Given the description of an element on the screen output the (x, y) to click on. 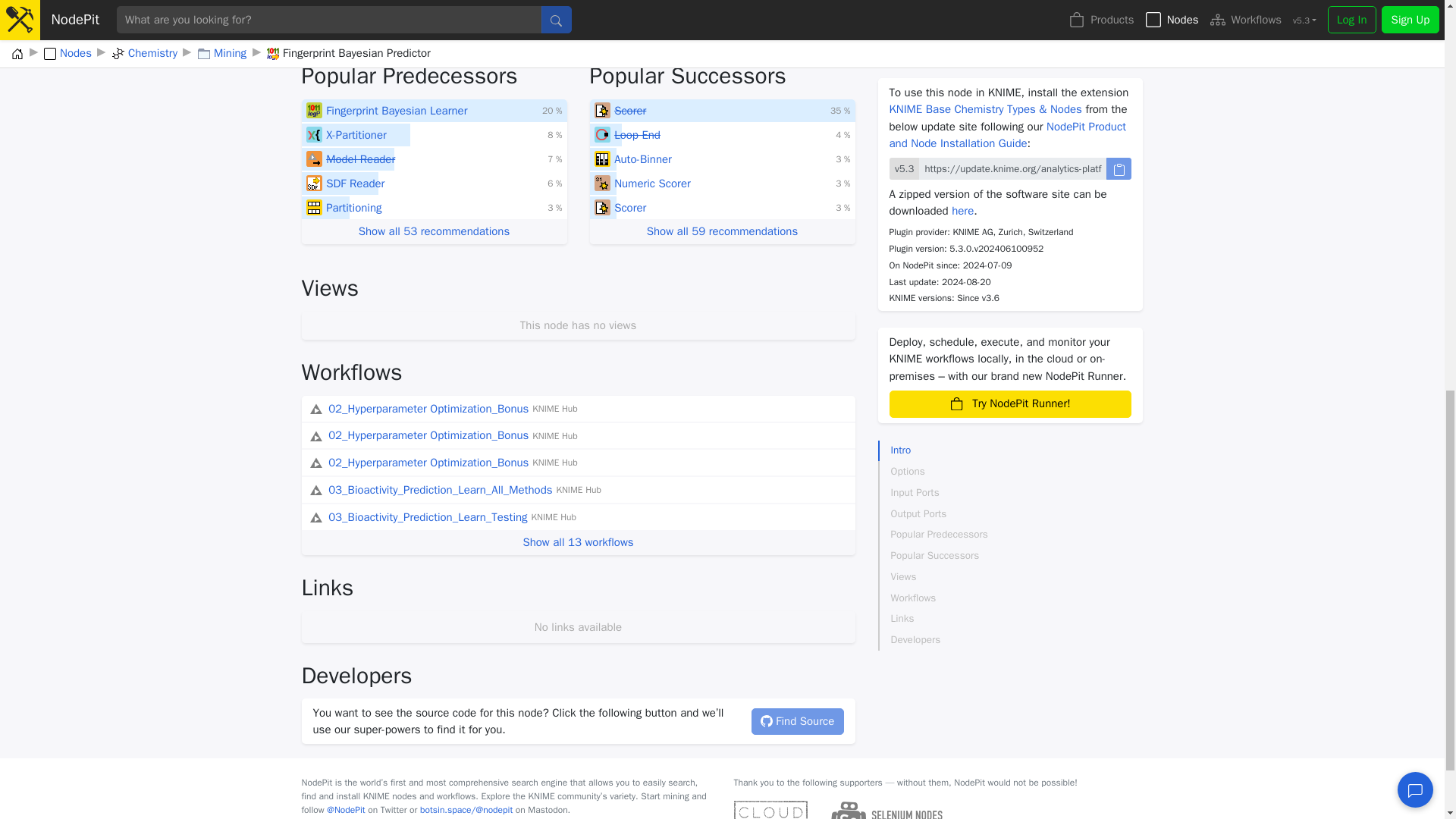
LoopEnd (602, 134)
Other (602, 110)
Absolute count: 14 x (554, 134)
Manipulator (314, 207)
Source (314, 183)
Absolute count: 34 x (551, 110)
Absolute count: 6 x (554, 207)
Absolute count: 10 x (554, 183)
Learner (314, 110)
Source (314, 158)
